Given the description of an element on the screen output the (x, y) to click on. 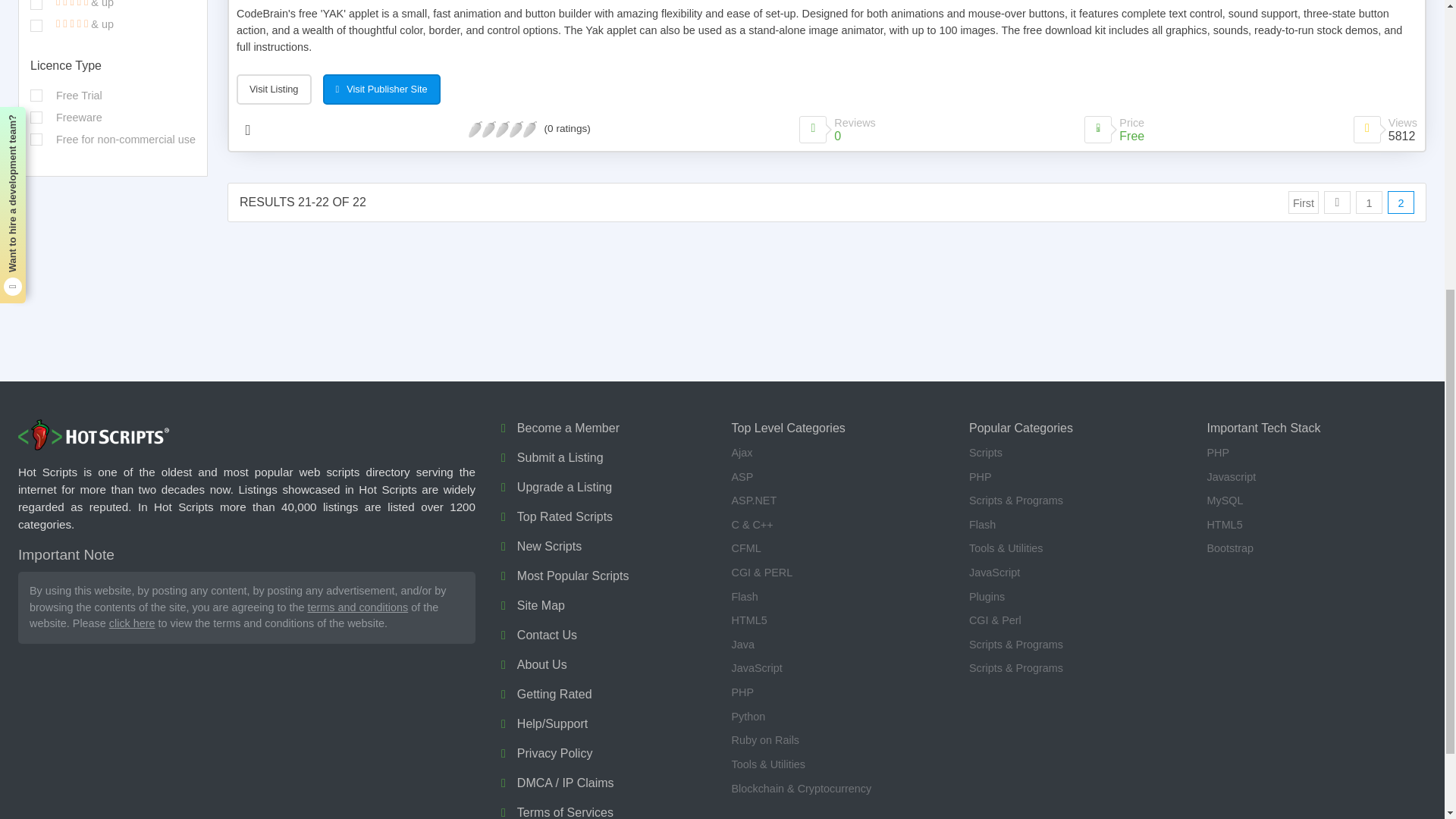
Freeware (36, 117)
1 (36, 25)
2 (36, 4)
Free Non-Commercial (36, 139)
Free Trial (36, 95)
Hotscripts (93, 435)
